Given the description of an element on the screen output the (x, y) to click on. 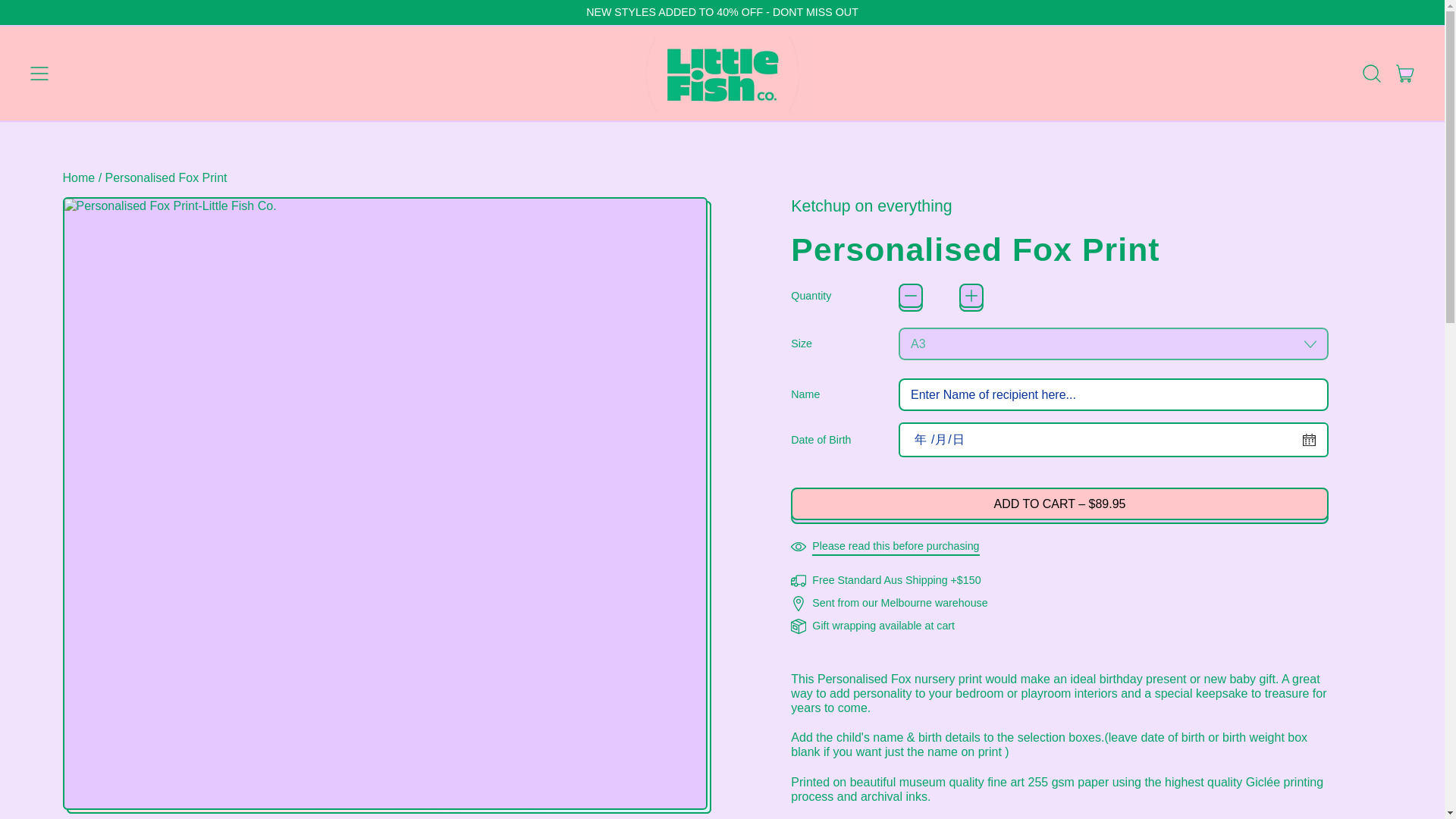
Menu (38, 73)
Back to the frontpage (78, 177)
Search our site (1372, 73)
Ketchup on everything (871, 206)
Home (78, 177)
Ketchup on everything (871, 206)
Please read this before purchasing (884, 547)
